Given the description of an element on the screen output the (x, y) to click on. 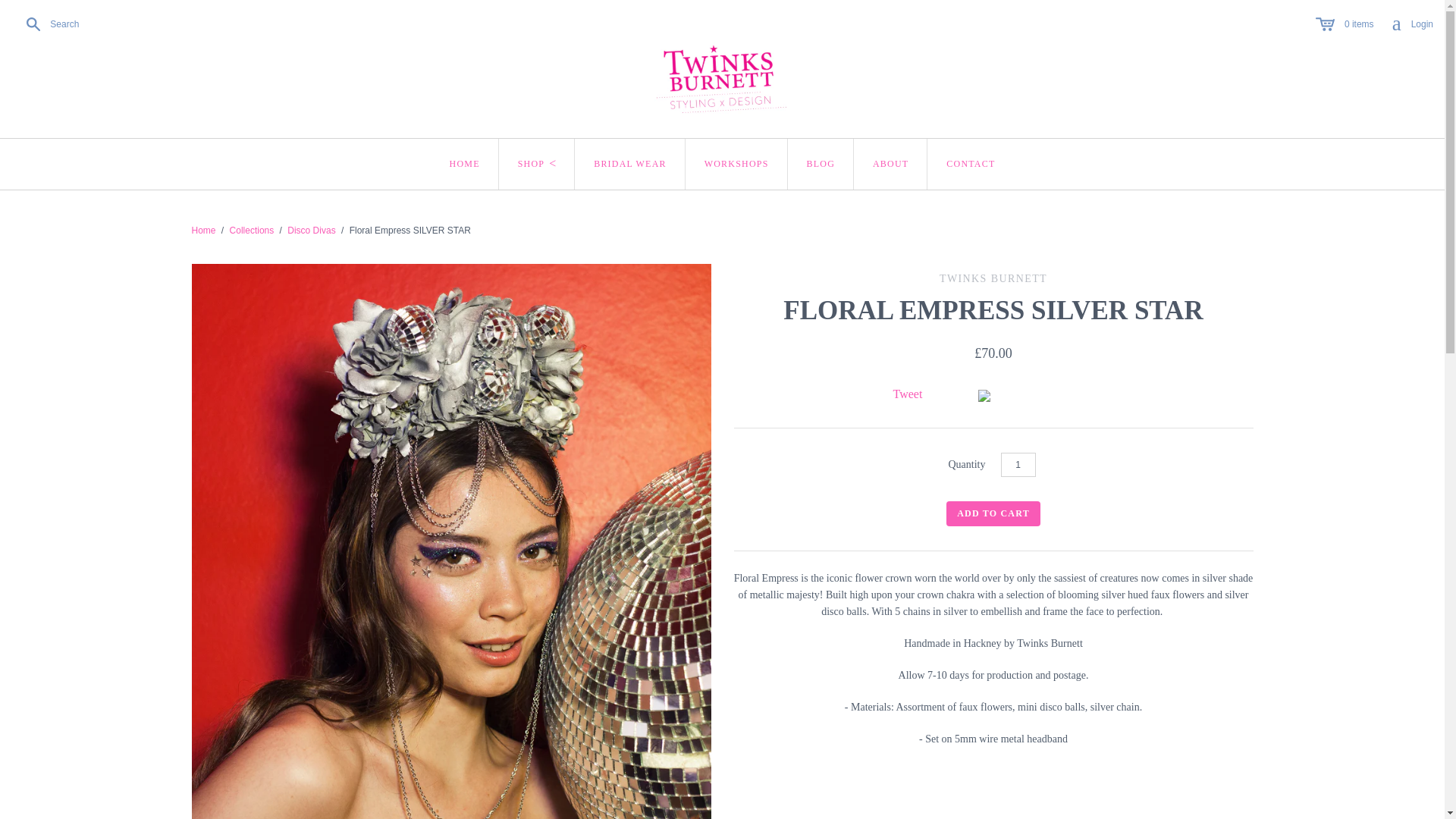
BRIDAL WEAR (630, 163)
Collections (252, 230)
Search (48, 24)
Disco Divas (310, 230)
WORKSHOPS (736, 163)
Add to cart (993, 513)
CONTACT (970, 163)
Home (202, 230)
BLOG (820, 163)
HOME (464, 163)
1 (1411, 24)
ABOUT (1018, 464)
